Given the description of an element on the screen output the (x, y) to click on. 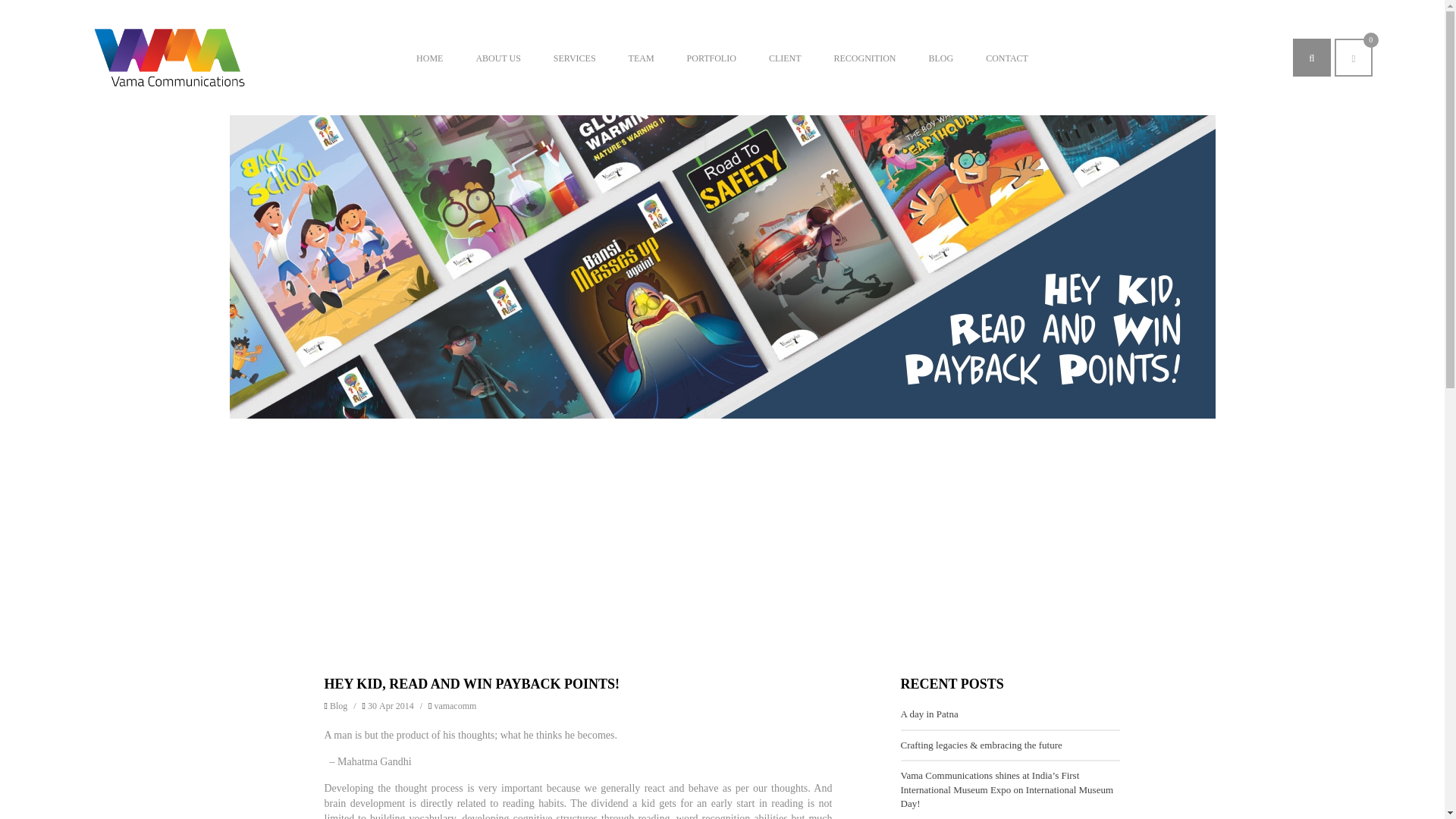
View your shopping cart (1354, 57)
0 (1354, 57)
A day in Patna (929, 713)
